Given the description of an element on the screen output the (x, y) to click on. 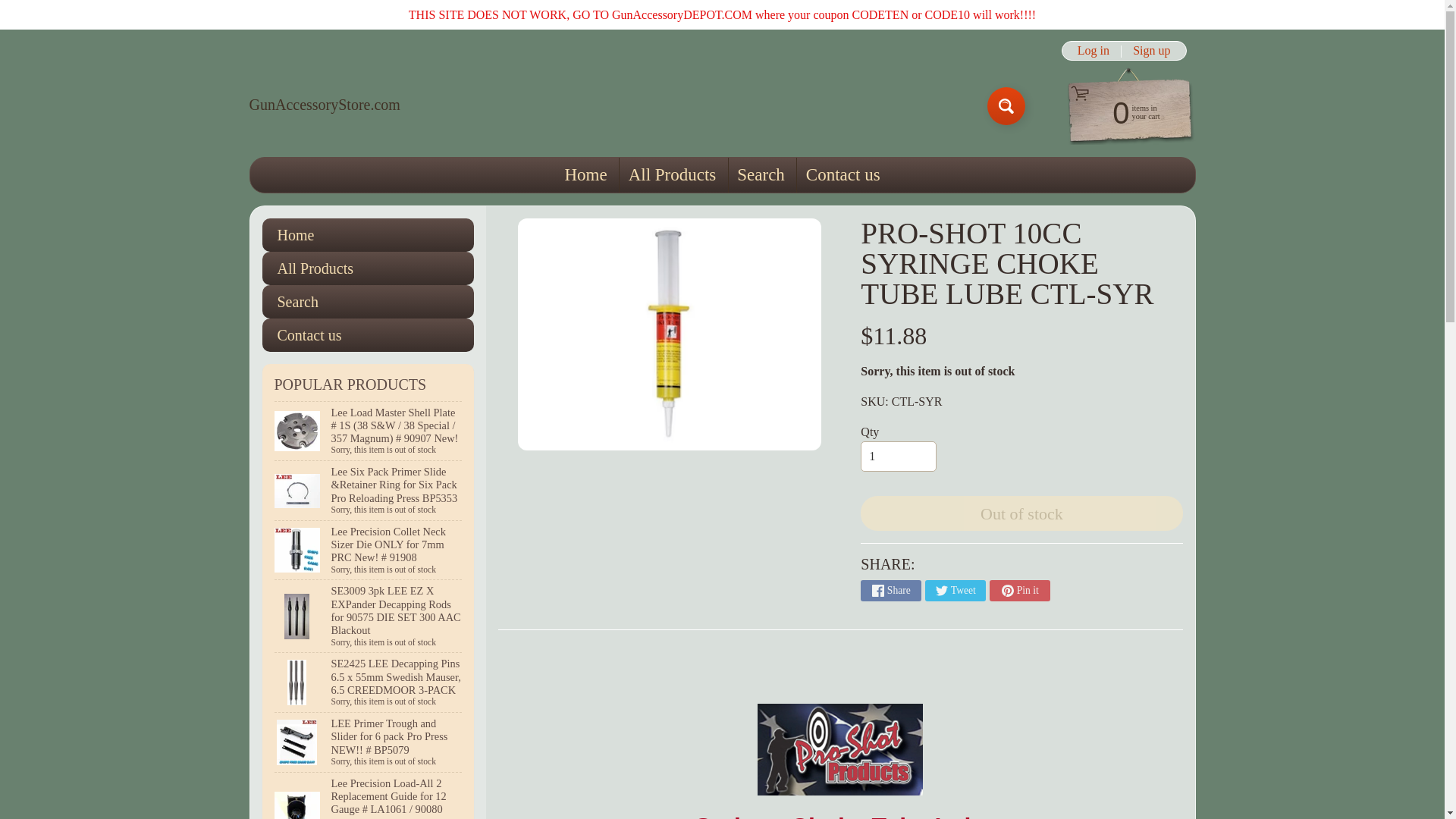
All Products (368, 268)
1 (898, 456)
Contact us (842, 175)
GunAccessoryStore.com (1122, 111)
All Products (323, 104)
GunAccessoryStore.com (672, 175)
Log in (323, 104)
Home (1093, 50)
Sign up (585, 175)
Contact us (1151, 50)
Home (368, 335)
